Given the description of an element on the screen output the (x, y) to click on. 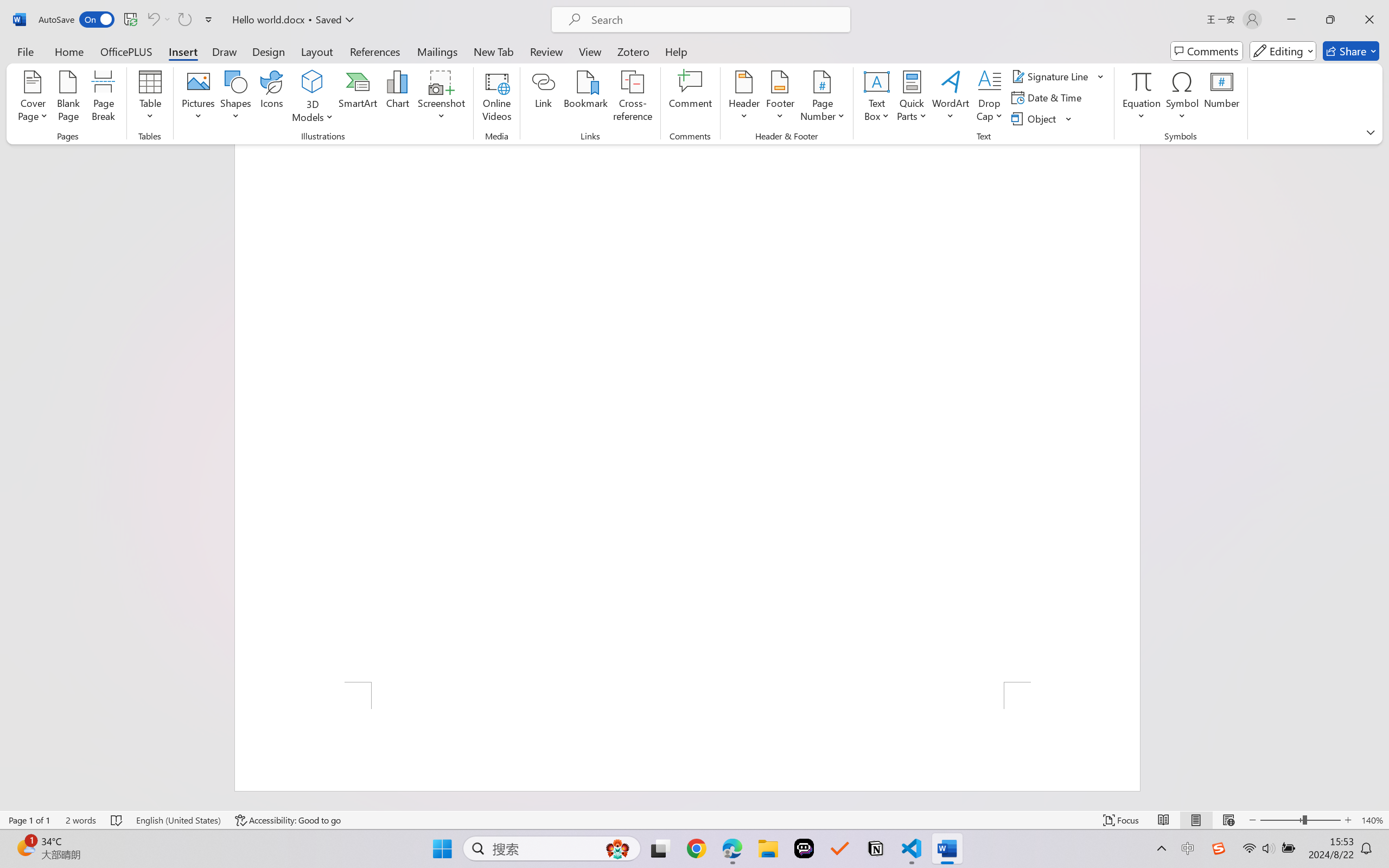
Can't Repeat (184, 19)
More Options (167, 19)
Review (546, 51)
Restore Down (1330, 19)
References (375, 51)
Accessibility Checker Accessibility: Good to go (288, 819)
File Tab (24, 51)
Minimize (1291, 19)
Close (1369, 19)
Save (130, 19)
Read Mode (1163, 819)
